Given the description of an element on the screen output the (x, y) to click on. 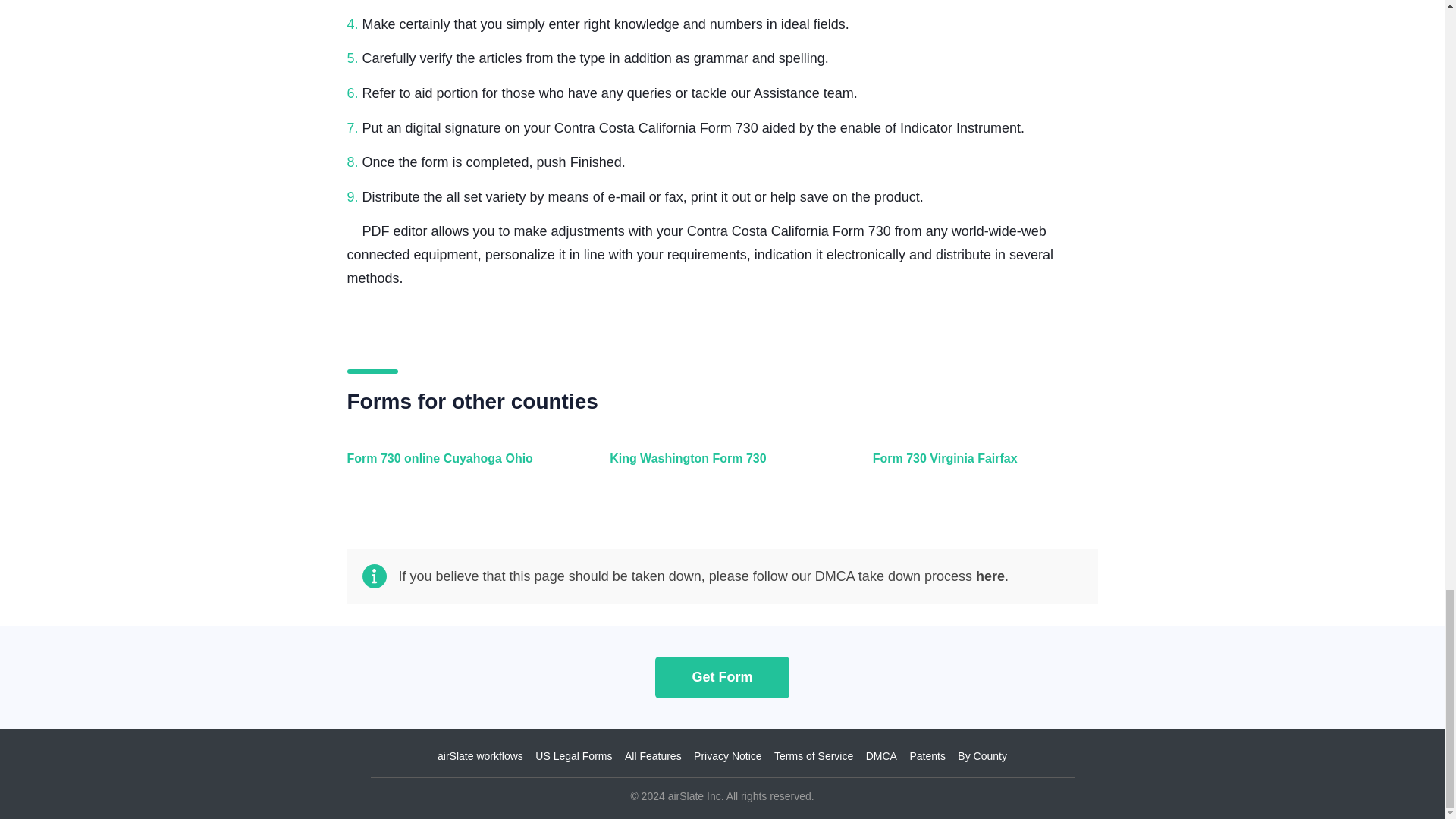
US Legal Forms (573, 756)
airSlate workflows (480, 756)
Form 730 Virginia Fairfax (981, 466)
Terms of Service (813, 756)
Form 730 online Cuyahoga Ohio (456, 466)
By County (982, 756)
Privacy Notice (727, 756)
here (989, 575)
All Features (652, 756)
King Washington Form 730 (718, 466)
Patents (926, 756)
Get Form (722, 676)
DMCA (881, 756)
